Given the description of an element on the screen output the (x, y) to click on. 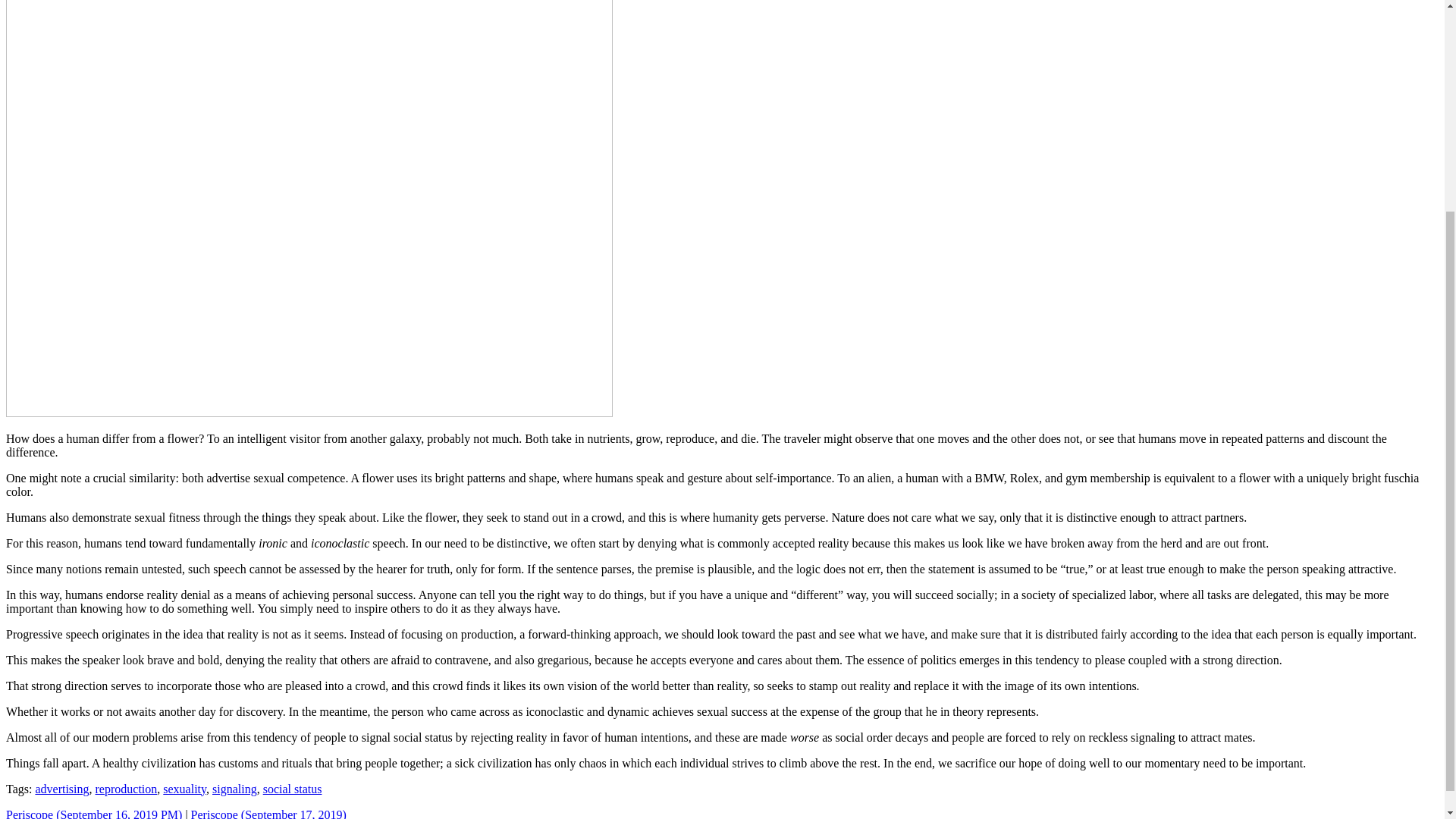
sexuality (184, 788)
advertising (61, 788)
social status (292, 788)
signaling (234, 788)
reproduction (126, 788)
